Given the description of an element on the screen output the (x, y) to click on. 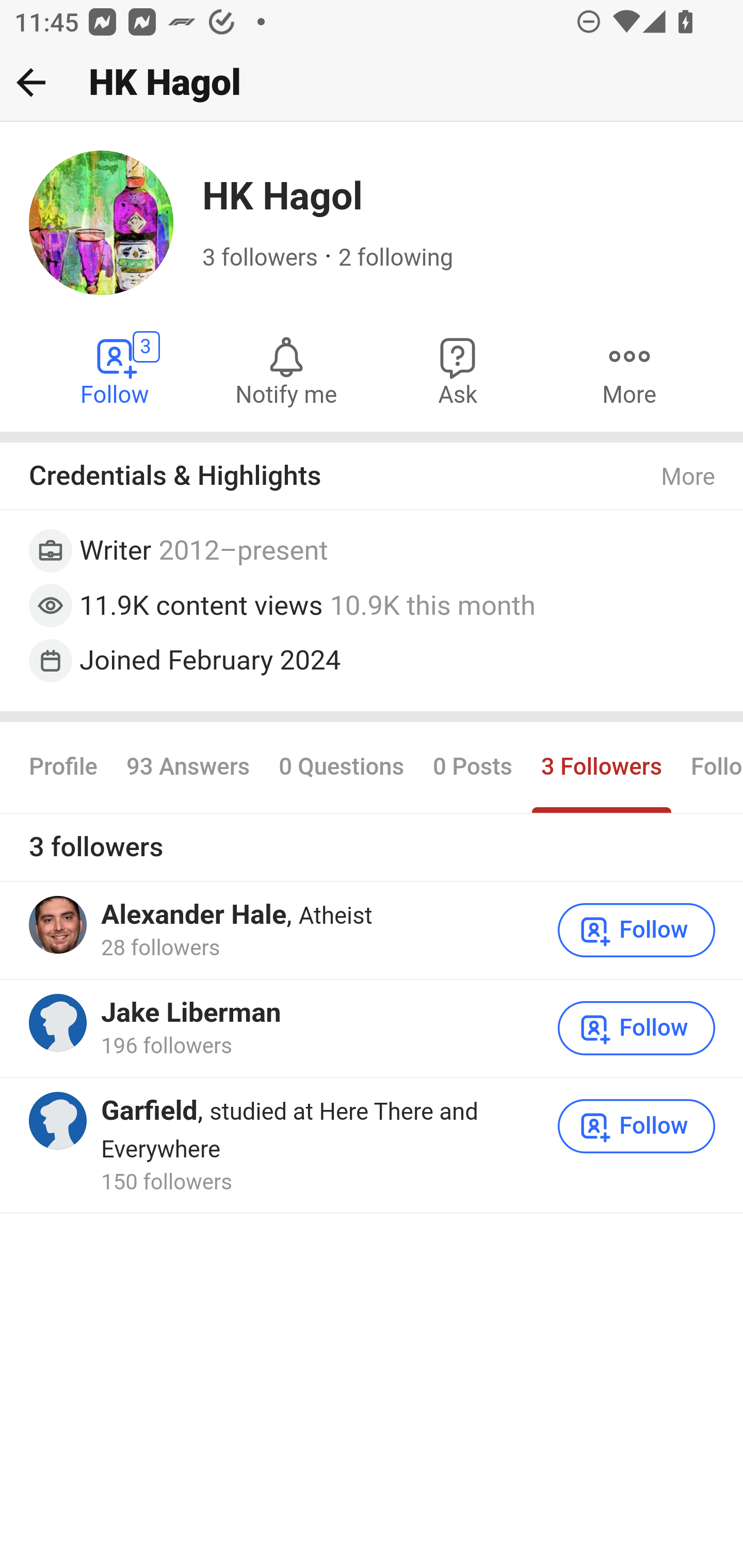
Back HK Hagol (371, 82)
Back (30, 82)
3 followers (260, 257)
2 following (395, 257)
Follow HK Hagol 3 Follow (115, 370)
Notify me (285, 370)
Ask (458, 370)
More (628, 370)
More (688, 477)
Profile (63, 766)
93 Answers (187, 766)
0 Questions (341, 766)
0 Posts (471, 766)
3 Followers (600, 766)
Following (709, 766)
Profile photo for Alexander Hale (58, 923)
Alexander Hale (193, 914)
Follow Alexander Hale Follow (636, 929)
Profile photo for Jake Liberman (58, 1022)
Jake Liberman (191, 1012)
Follow Jake Liberman Follow (636, 1027)
Profile photo for Garfield (58, 1120)
Garfield (149, 1110)
Follow Garfield Follow (636, 1125)
